Given the description of an element on the screen output the (x, y) to click on. 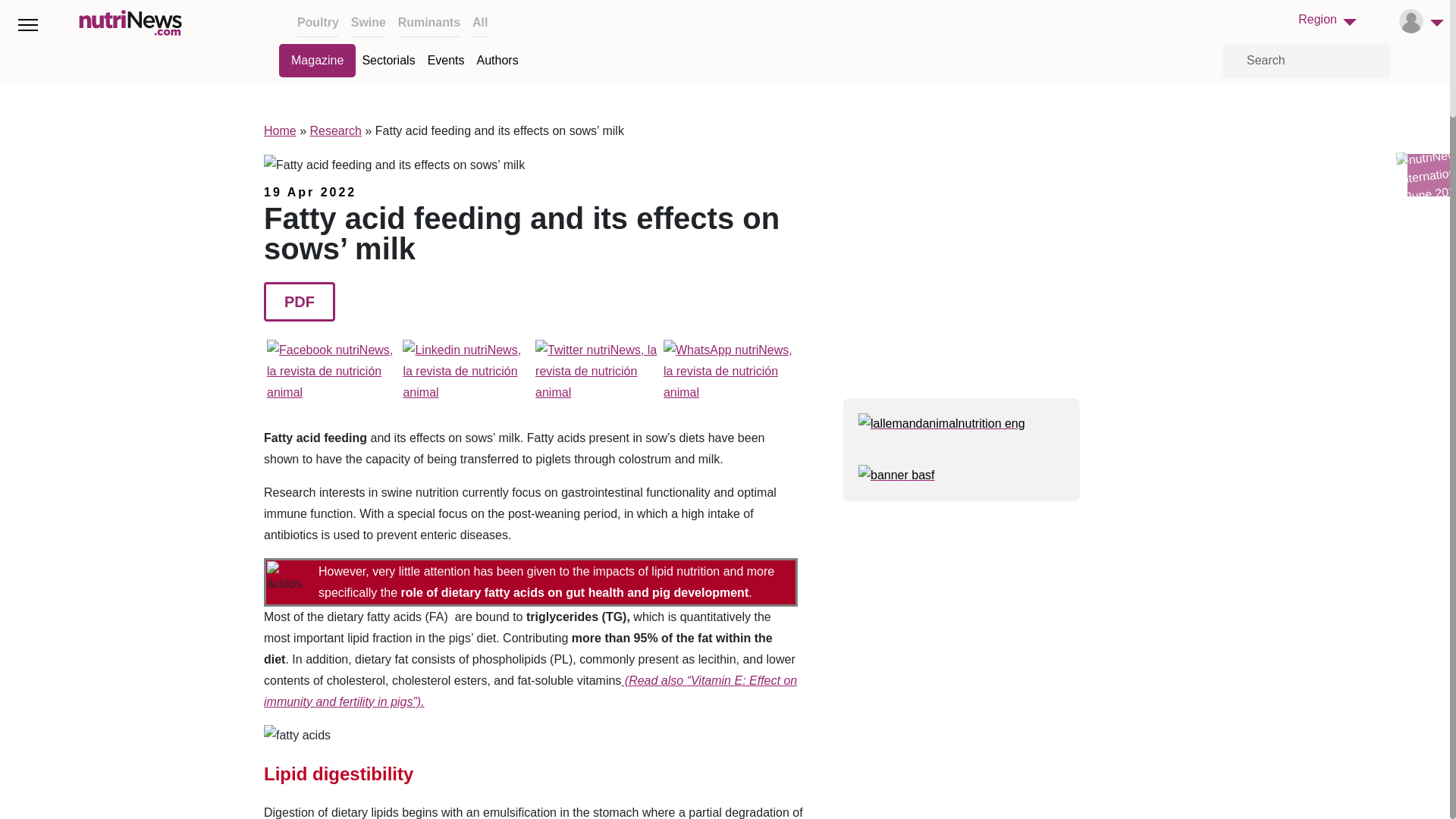
Authors (497, 60)
Sectorials (387, 60)
Ruminants (428, 20)
Poultry (318, 20)
Search (1306, 60)
Swine (367, 20)
Region (1327, 19)
Events (446, 60)
Magazine (317, 60)
